Given the description of an element on the screen output the (x, y) to click on. 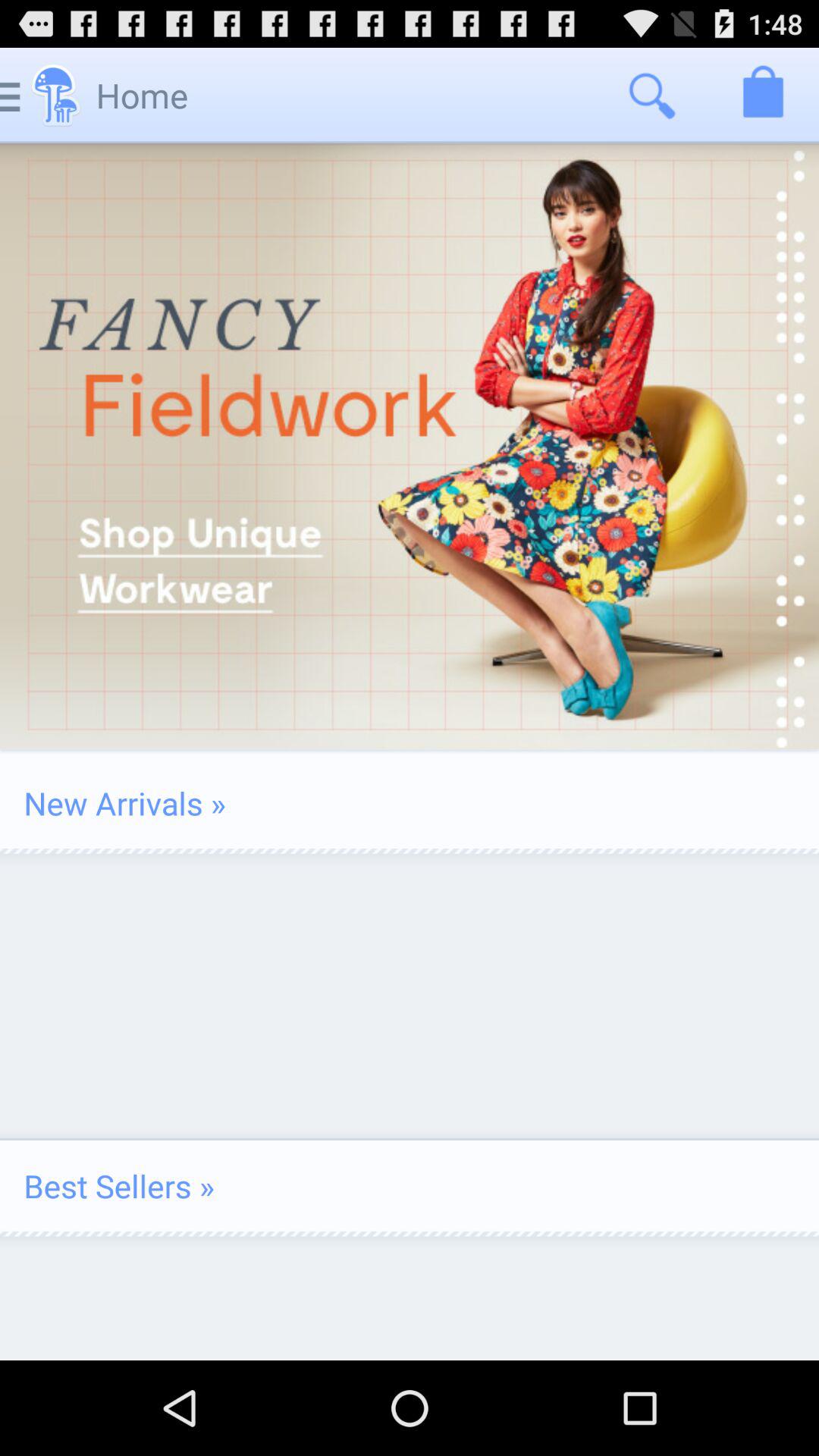
launch icon on the left (124, 802)
